Given the description of an element on the screen output the (x, y) to click on. 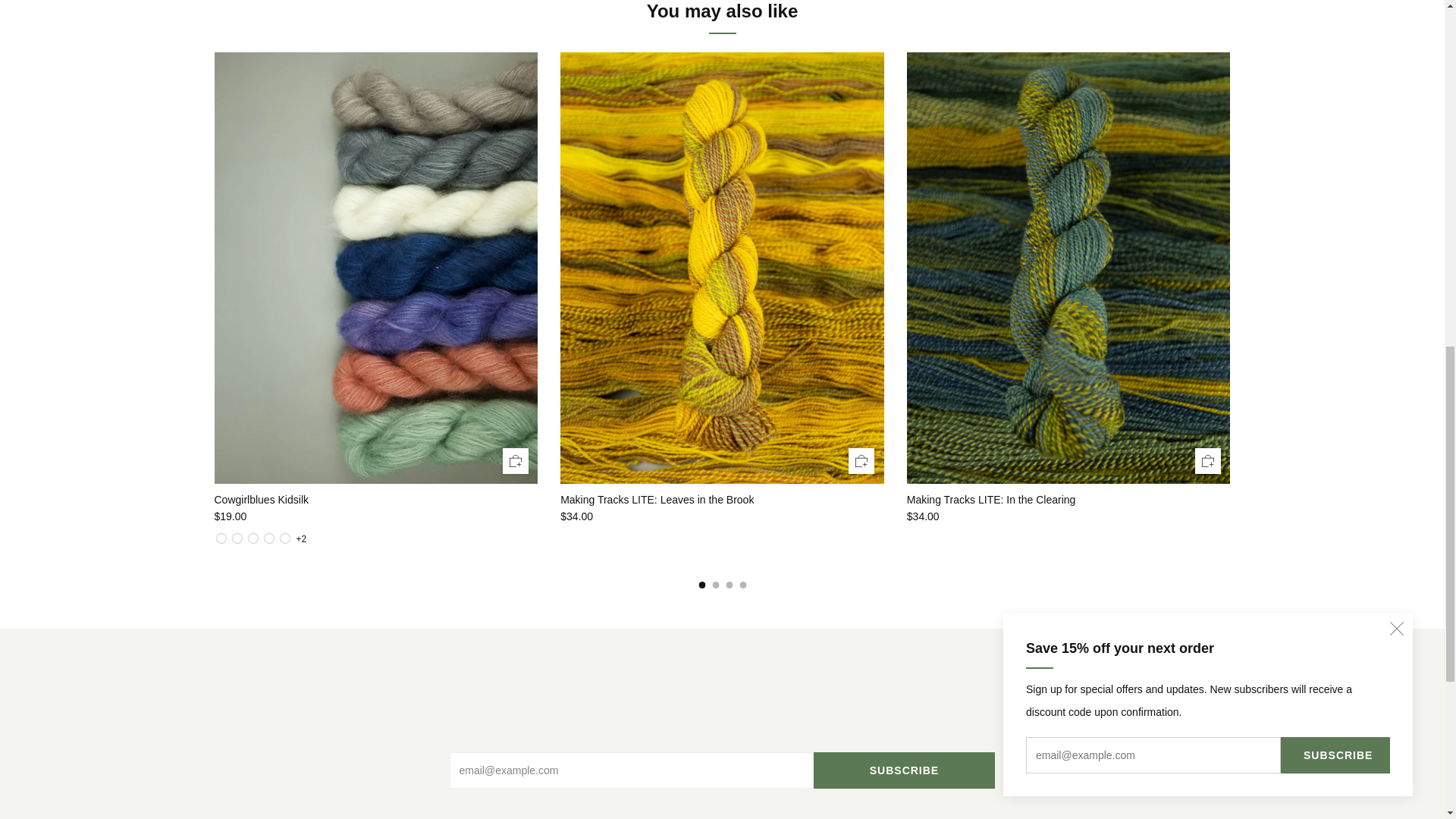
Making Tracks LITE: In the Clearing (1068, 499)
Making Tracks LITE: Leaves in the Brook (721, 516)
Cowgirlblues Kidsilk (300, 538)
Cowgirlblues Kidsilk (375, 516)
Making Tracks LITE: In the Clearing (1068, 516)
Cowgirlblues Kidsilk (375, 499)
Making Tracks LITE: Leaves in the Brook (721, 499)
